Given the description of an element on the screen output the (x, y) to click on. 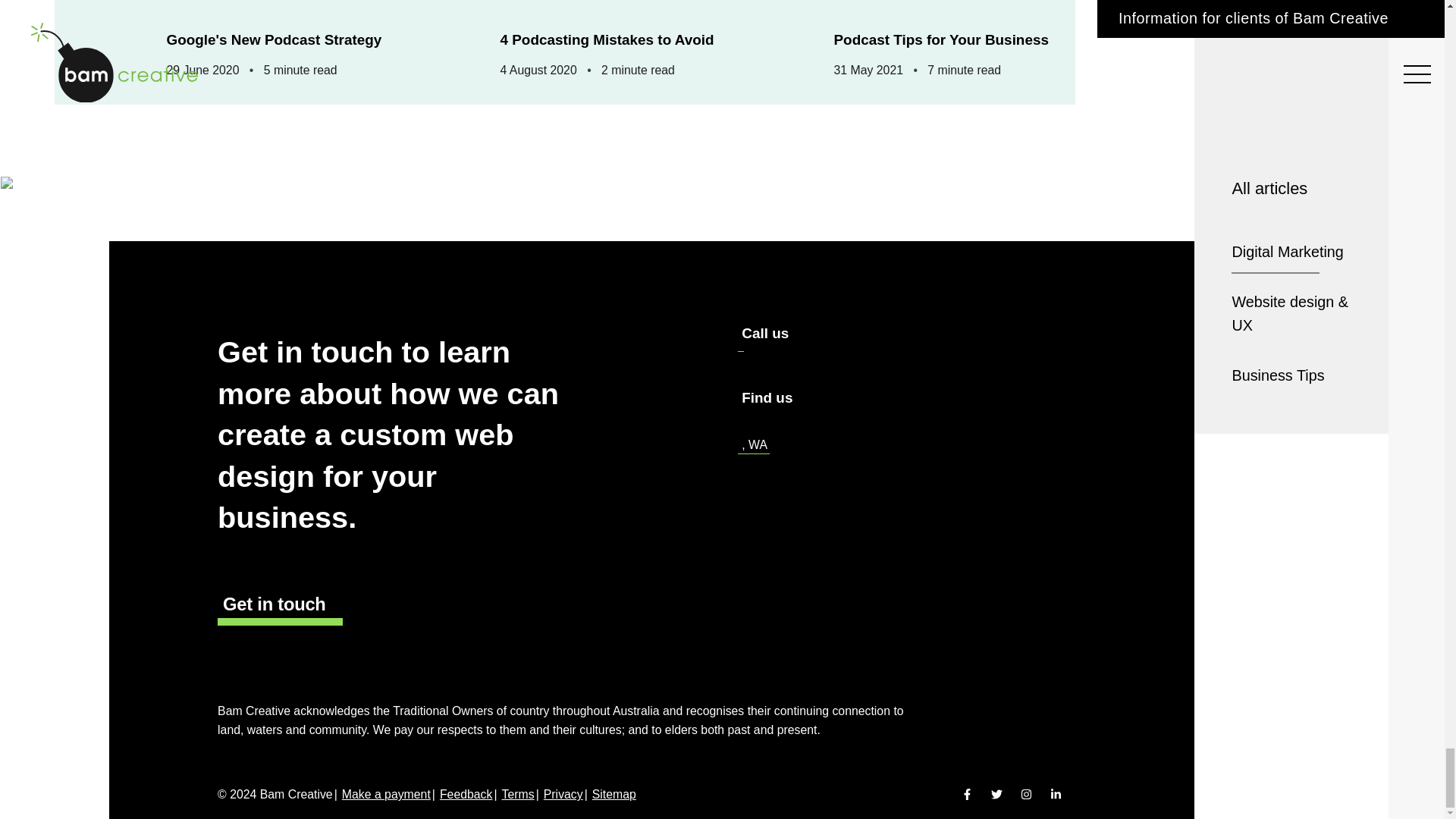
Make a payment (386, 793)
Follow Bam Creative on LinkedIn (1055, 794)
Follow Bam Creative on Instagram (1026, 794)
Follow Bam Creative on Facebook (966, 794)
Follow Bam Creative on Twitter (997, 794)
